Given the description of an element on the screen output the (x, y) to click on. 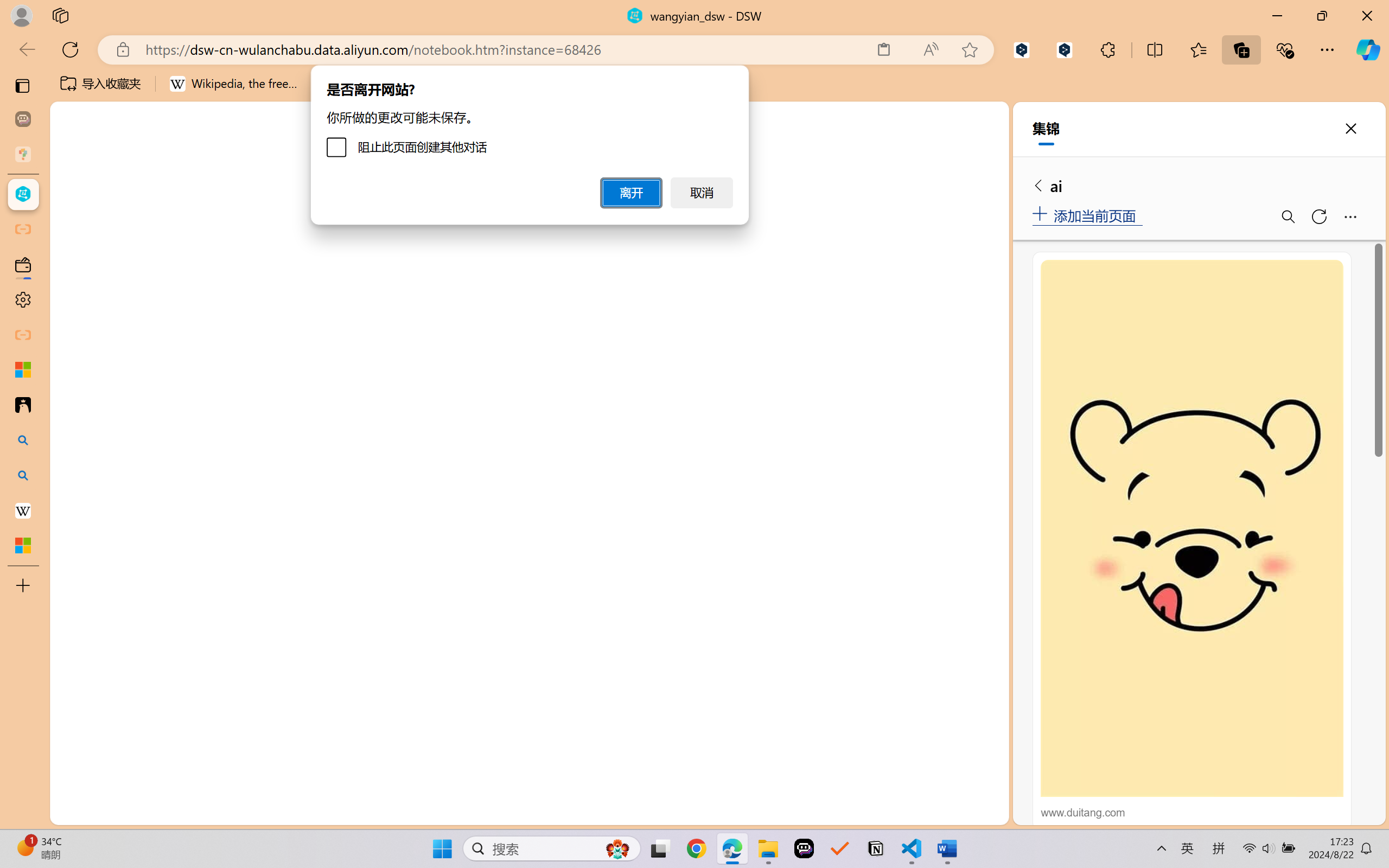
Close Panel (986, 565)
Manage (73, 778)
icon (930, 119)
Maximize Panel Size (959, 565)
